Given the description of an element on the screen output the (x, y) to click on. 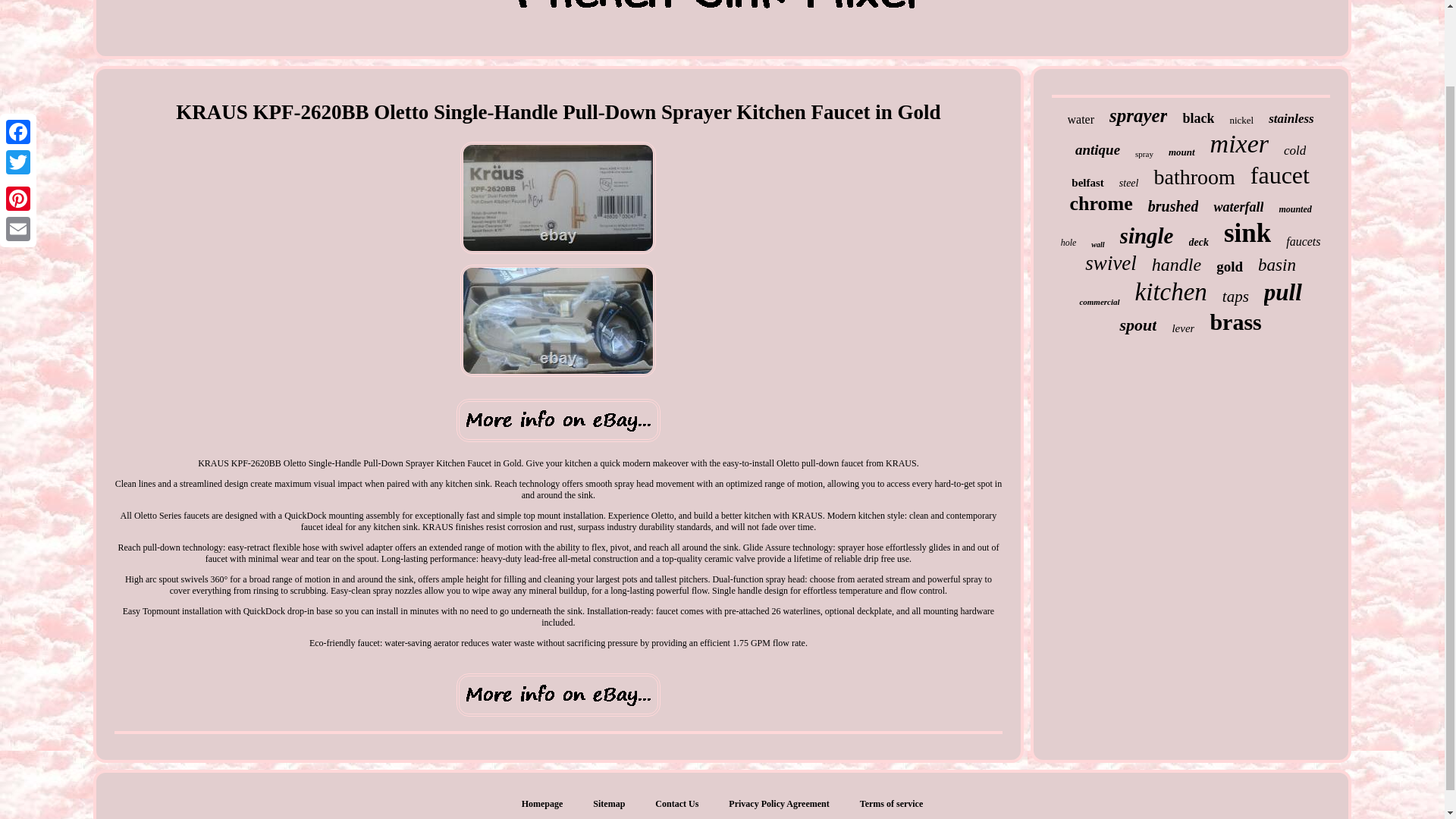
water (1080, 119)
nickel (1240, 120)
handle (1176, 264)
hole (1069, 242)
mount (1182, 152)
Email (17, 141)
single (1146, 235)
Pinterest (17, 110)
brushed (1173, 206)
